Given the description of an element on the screen output the (x, y) to click on. 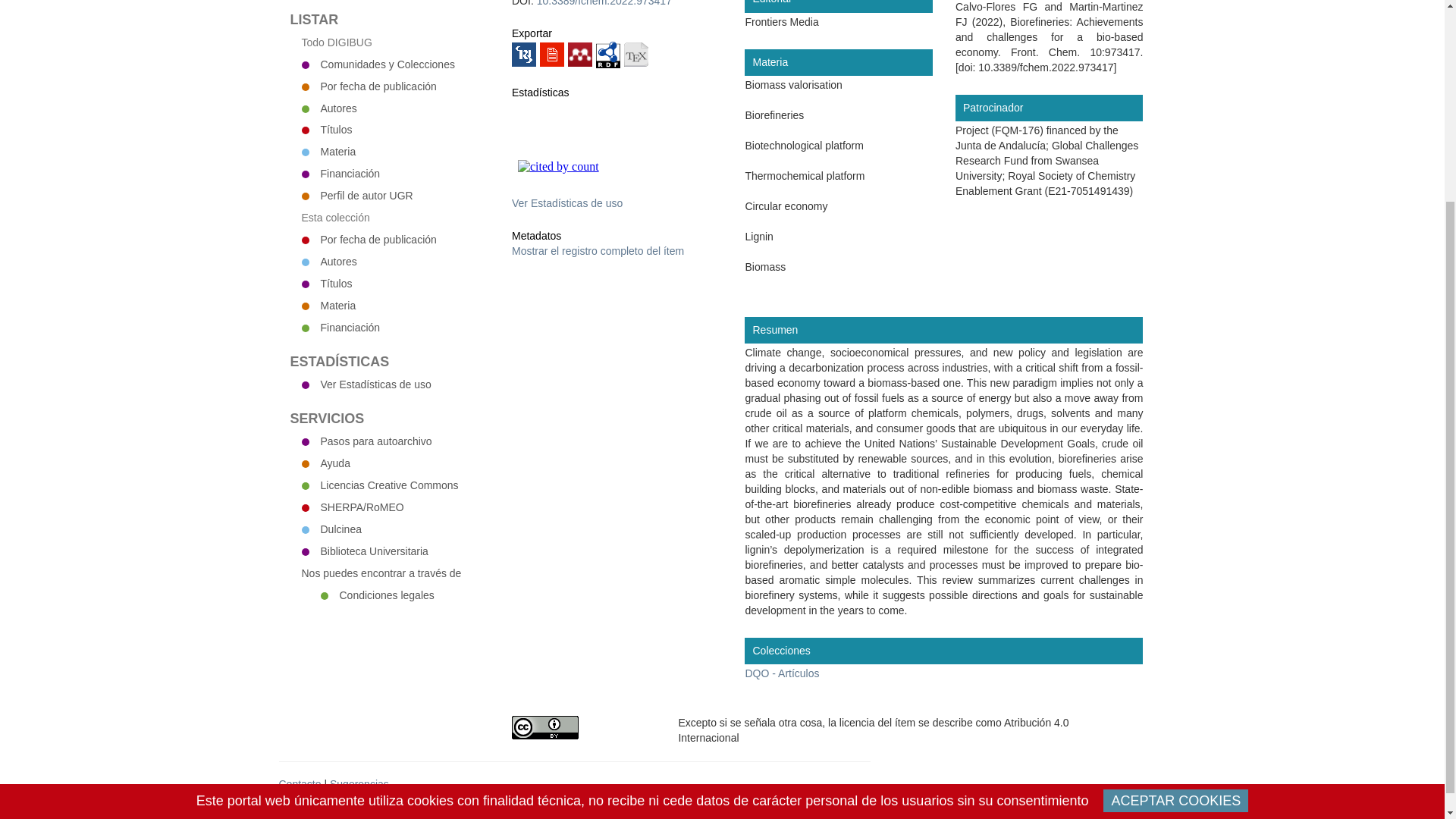
Refworks (552, 54)
Mendeley (579, 54)
Scopus (625, 187)
RIS (523, 54)
Almetrics (536, 145)
Bibtex (635, 54)
ACEPTAR COOKIES (1175, 536)
RDF (607, 53)
